Given the description of an element on the screen output the (x, y) to click on. 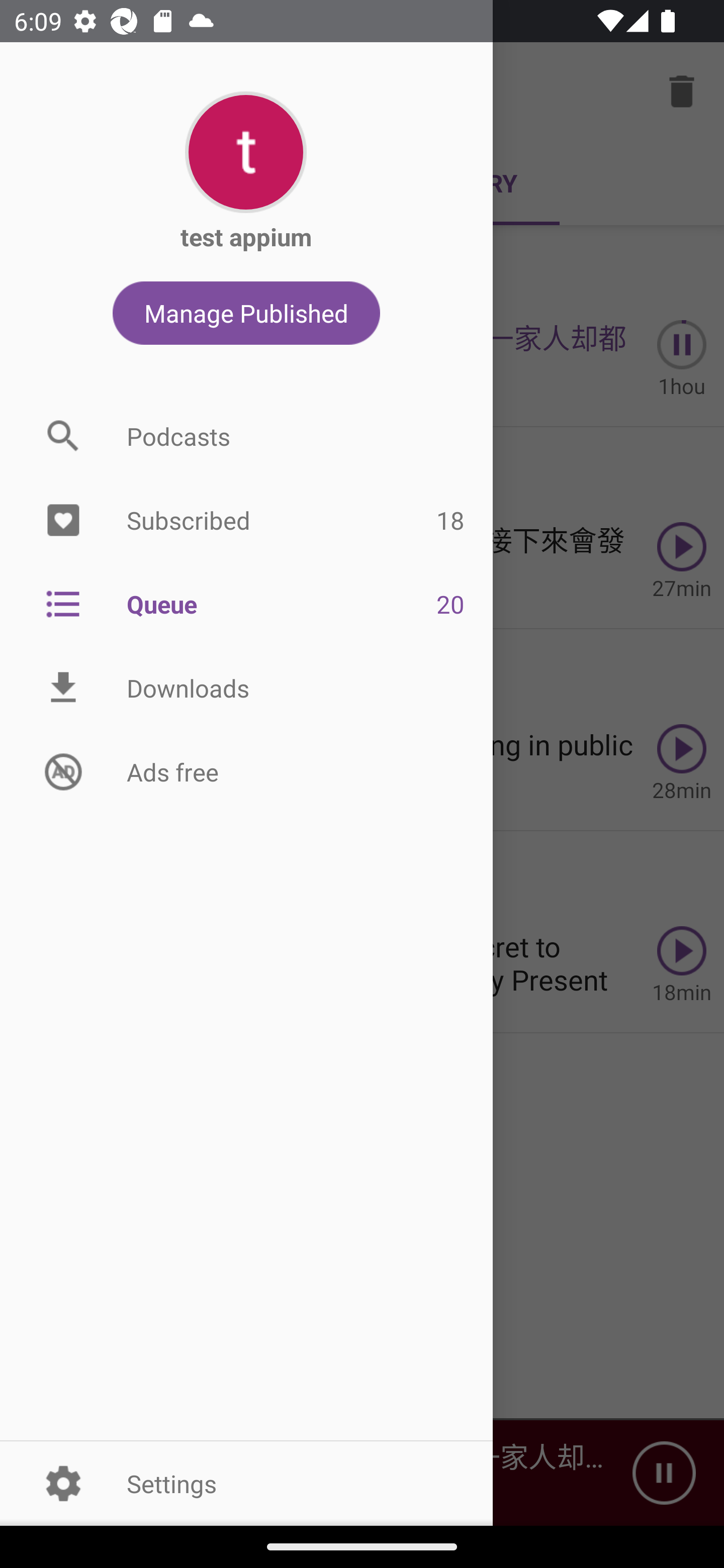
Manage Published (246, 312)
Picture Podcasts (246, 435)
Picture Subscribed 18 (246, 520)
Picture Queue 20 (246, 603)
Picture Downloads (246, 688)
Picture Ads free (246, 771)
Settings Picture Settings (246, 1482)
